Given the description of an element on the screen output the (x, y) to click on. 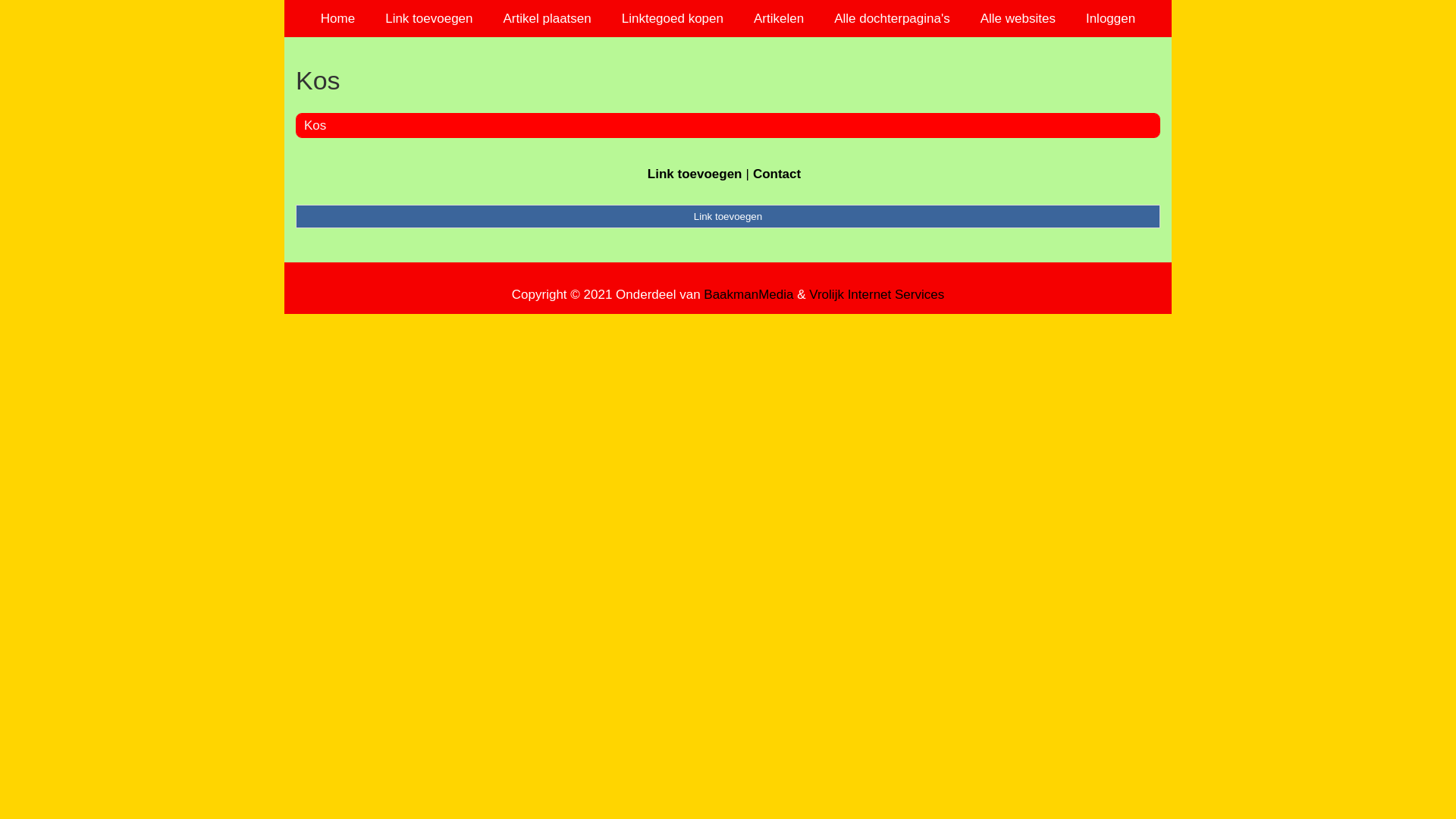
Kos Element type: text (315, 125)
Vrolijk Internet Services Element type: text (876, 294)
Home Element type: text (337, 18)
Contact Element type: text (776, 173)
Artikelen Element type: text (778, 18)
BaakmanMedia Element type: text (748, 294)
Linktegoed kopen Element type: text (672, 18)
Artikel plaatsen Element type: text (547, 18)
Link toevoegen Element type: text (694, 173)
Link toevoegen Element type: text (727, 215)
Link toevoegen Element type: text (428, 18)
Alle dochterpagina's Element type: text (892, 18)
Alle websites Element type: text (1017, 18)
Inloggen Element type: text (1110, 18)
Kos Element type: text (727, 80)
